Given the description of an element on the screen output the (x, y) to click on. 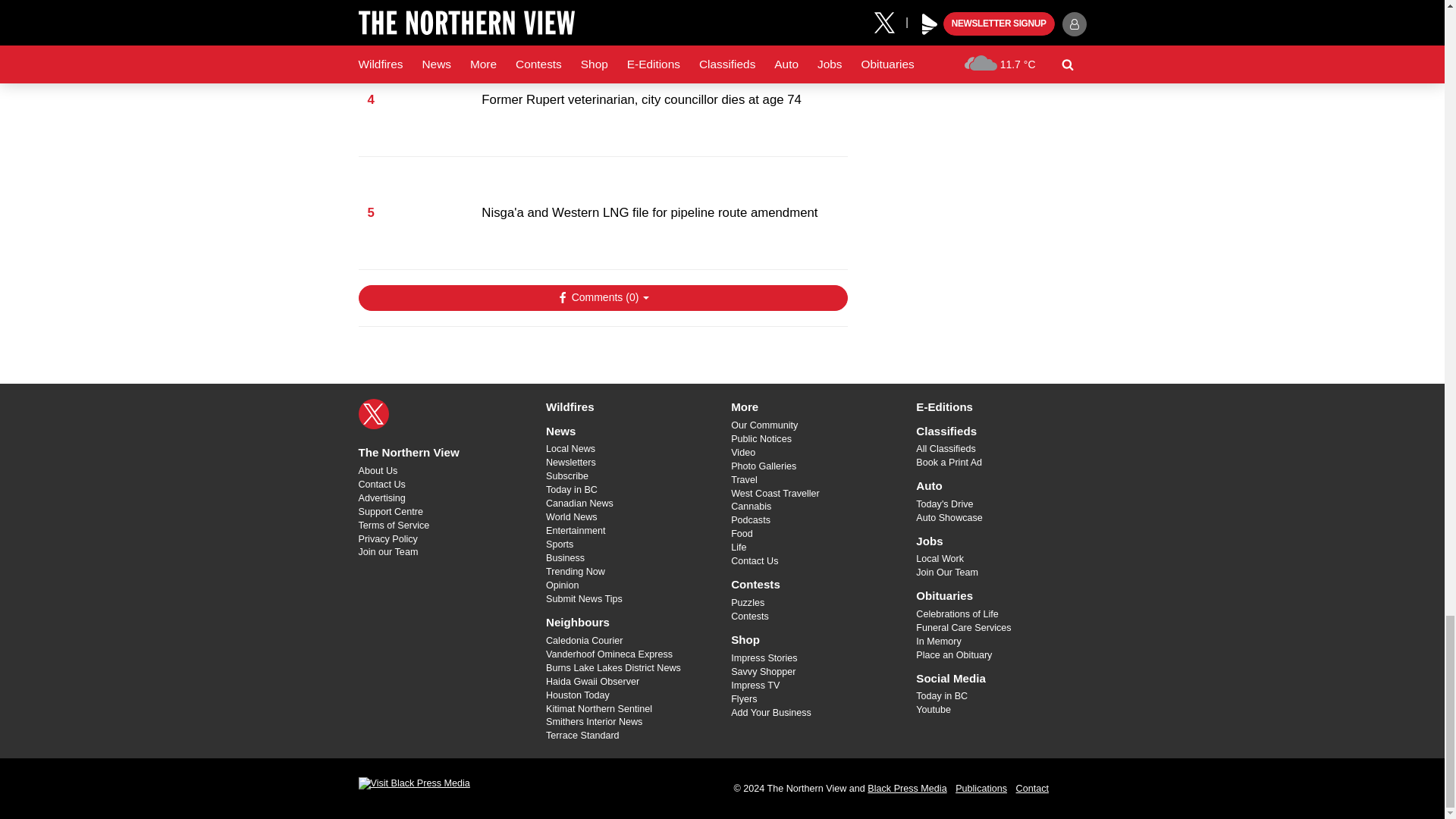
Show Comments (602, 298)
X (373, 413)
